Given the description of an element on the screen output the (x, y) to click on. 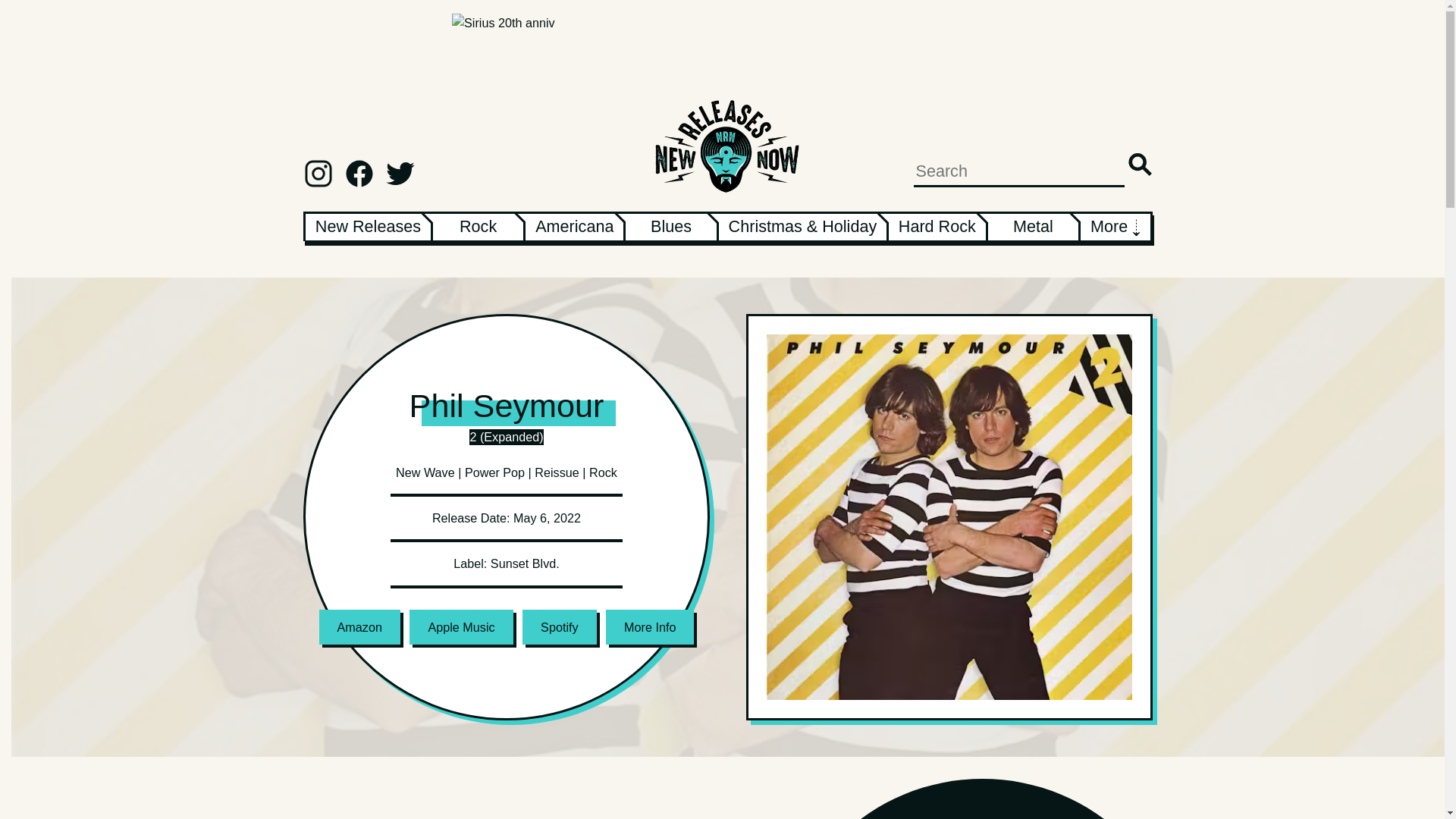
New Releases (367, 226)
Metal (1032, 226)
Hard Rock (936, 226)
Rock (477, 226)
Americana (573, 226)
Blues (670, 226)
